Given the description of an element on the screen output the (x, y) to click on. 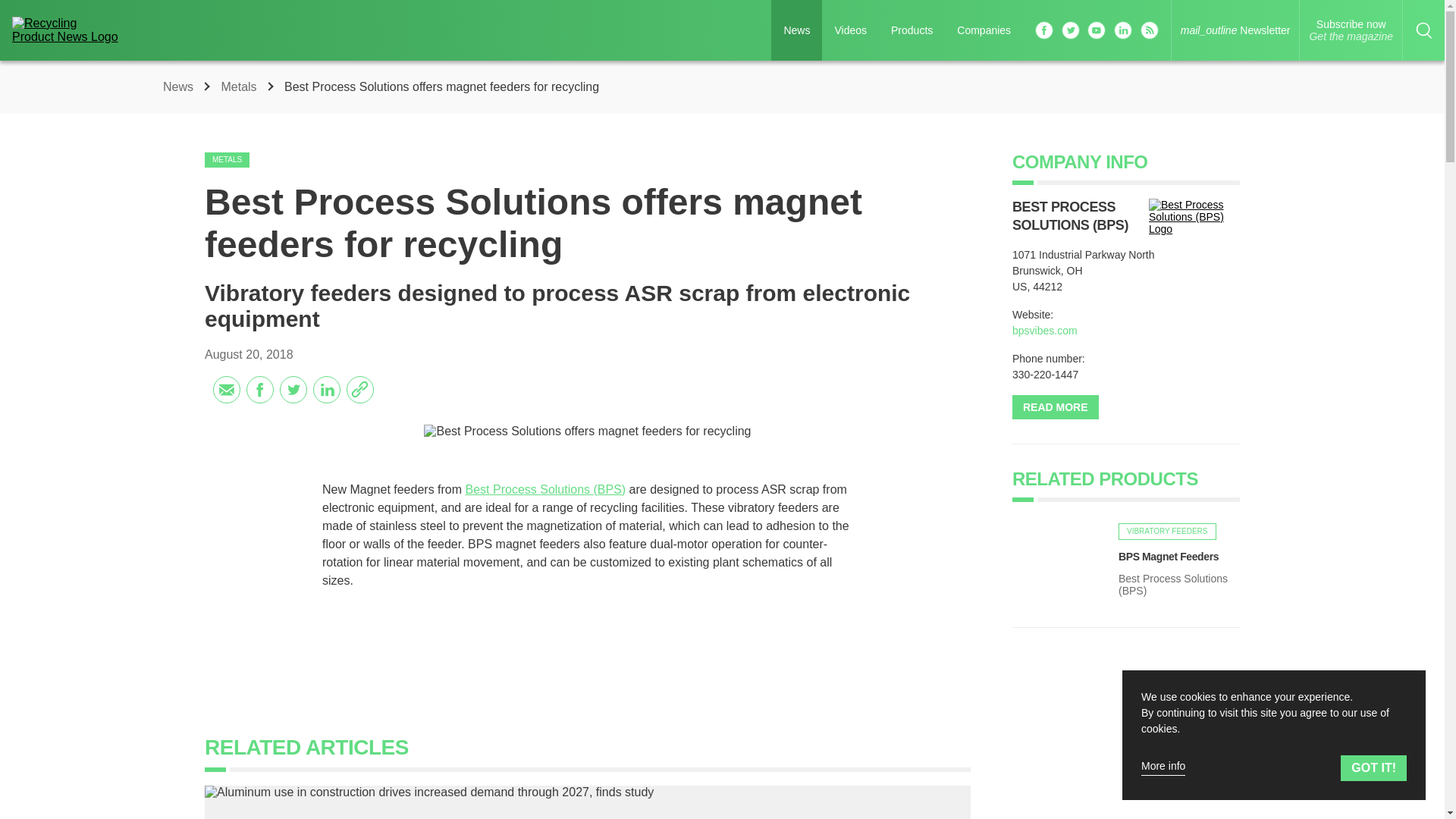
bpsvibes.com (1044, 330)
Products (911, 30)
News (179, 86)
METALS (1351, 30)
Videos (226, 159)
VIBRATORY FEEDERS (850, 30)
Metals (1166, 531)
Companies (240, 86)
